Given the description of an element on the screen output the (x, y) to click on. 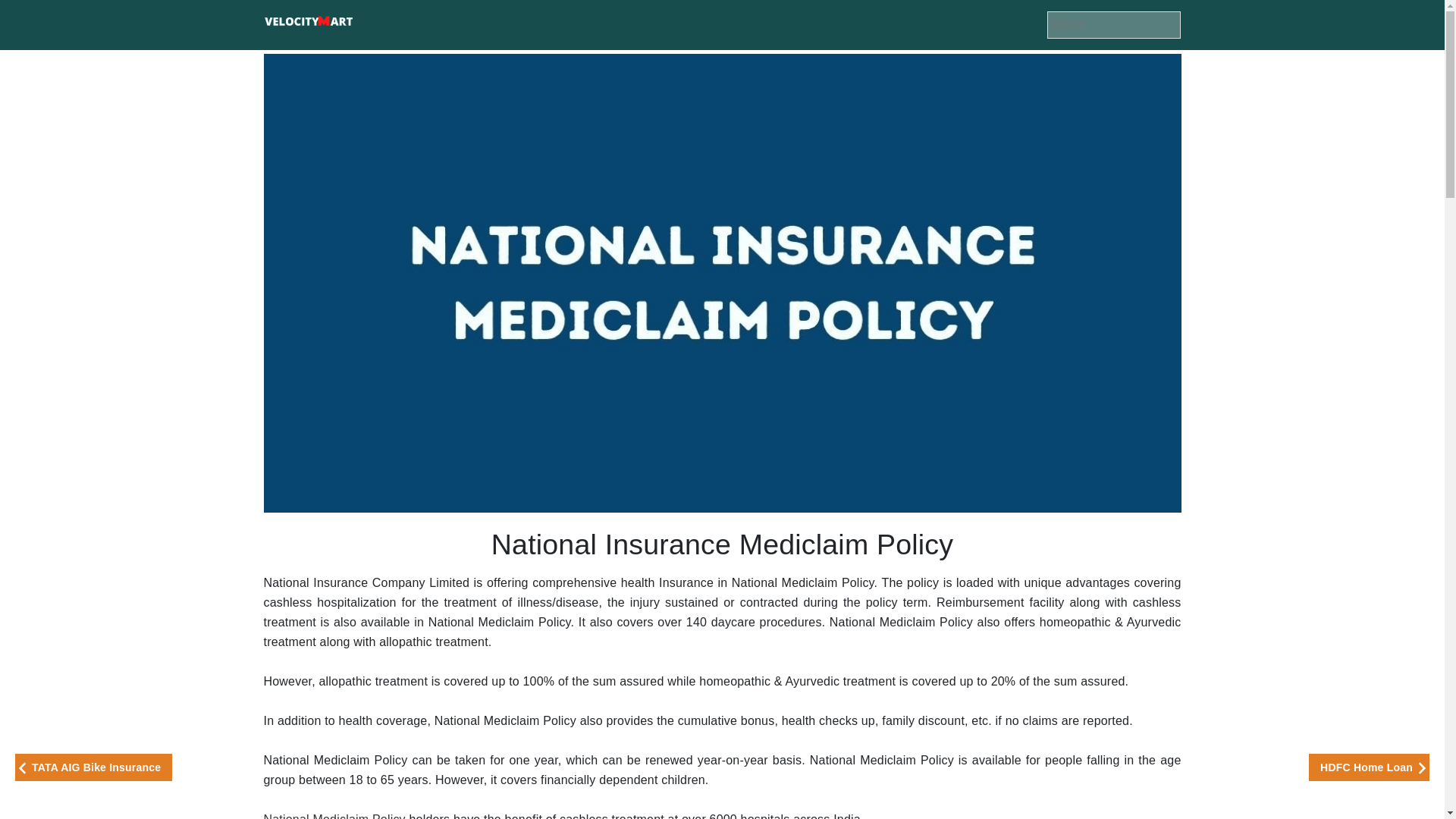
National Mediclaim Policy (334, 816)
National Mediclaim Policy (334, 816)
